Given the description of an element on the screen output the (x, y) to click on. 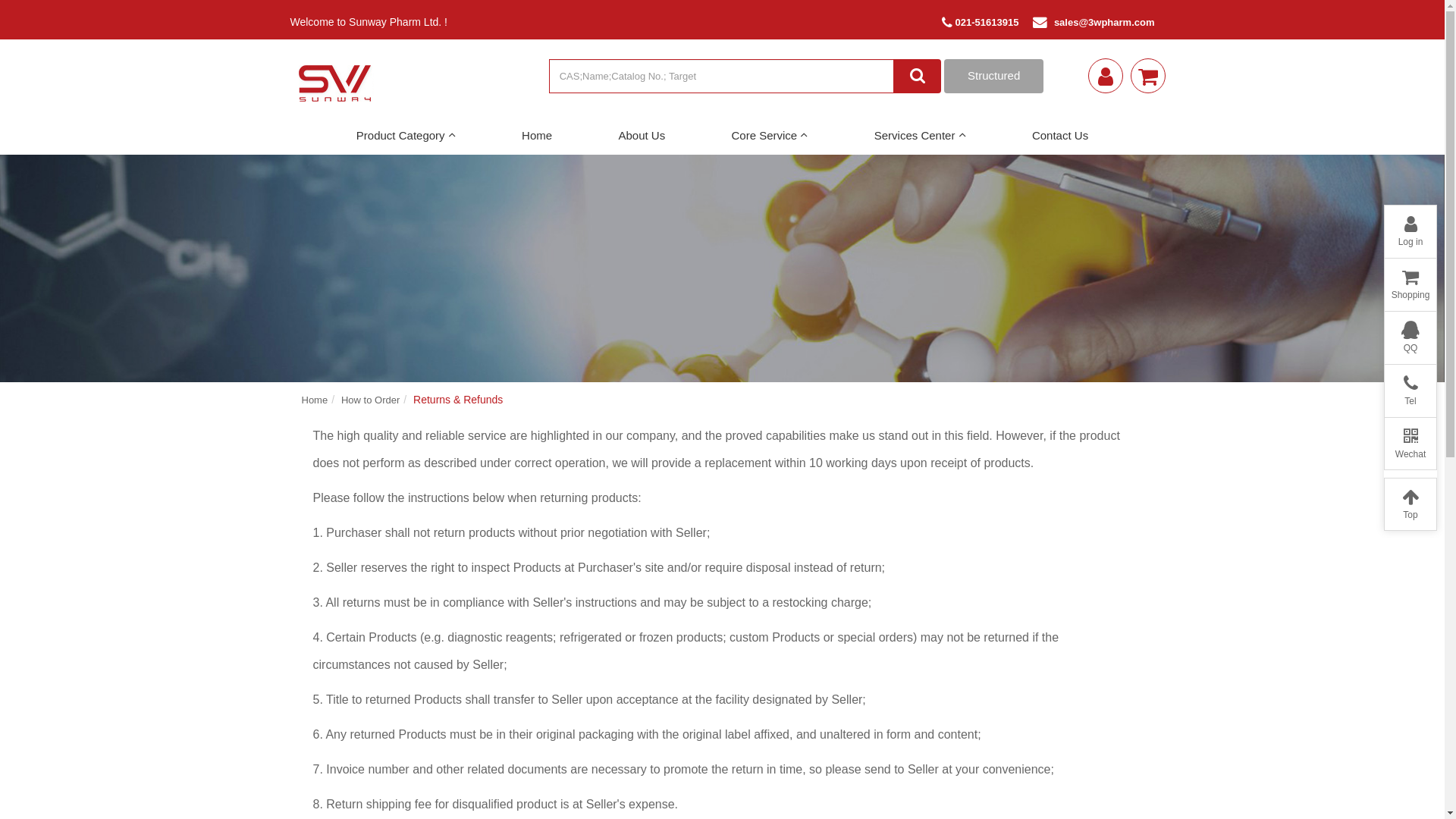
About Us Element type: text (641, 135)
Wechat Element type: text (1410, 446)
Product Category Element type: text (406, 135)
Top Element type: text (1410, 507)
Home Element type: text (314, 399)
Contact Us Element type: text (1059, 135)
How to Order Element type: text (370, 399)
Services Center Element type: text (919, 135)
Structured Element type: text (993, 76)
Shopping Element type: text (1410, 287)
Log in Element type: text (1410, 234)
Home
(current) Element type: text (536, 135)
sales@3wpharm.com Element type: text (1104, 22)
021-51613915 Element type: text (981, 22)
Core Service Element type: text (769, 135)
Tel Element type: text (1409, 393)
QQ Element type: text (1410, 340)
